Given the description of an element on the screen output the (x, y) to click on. 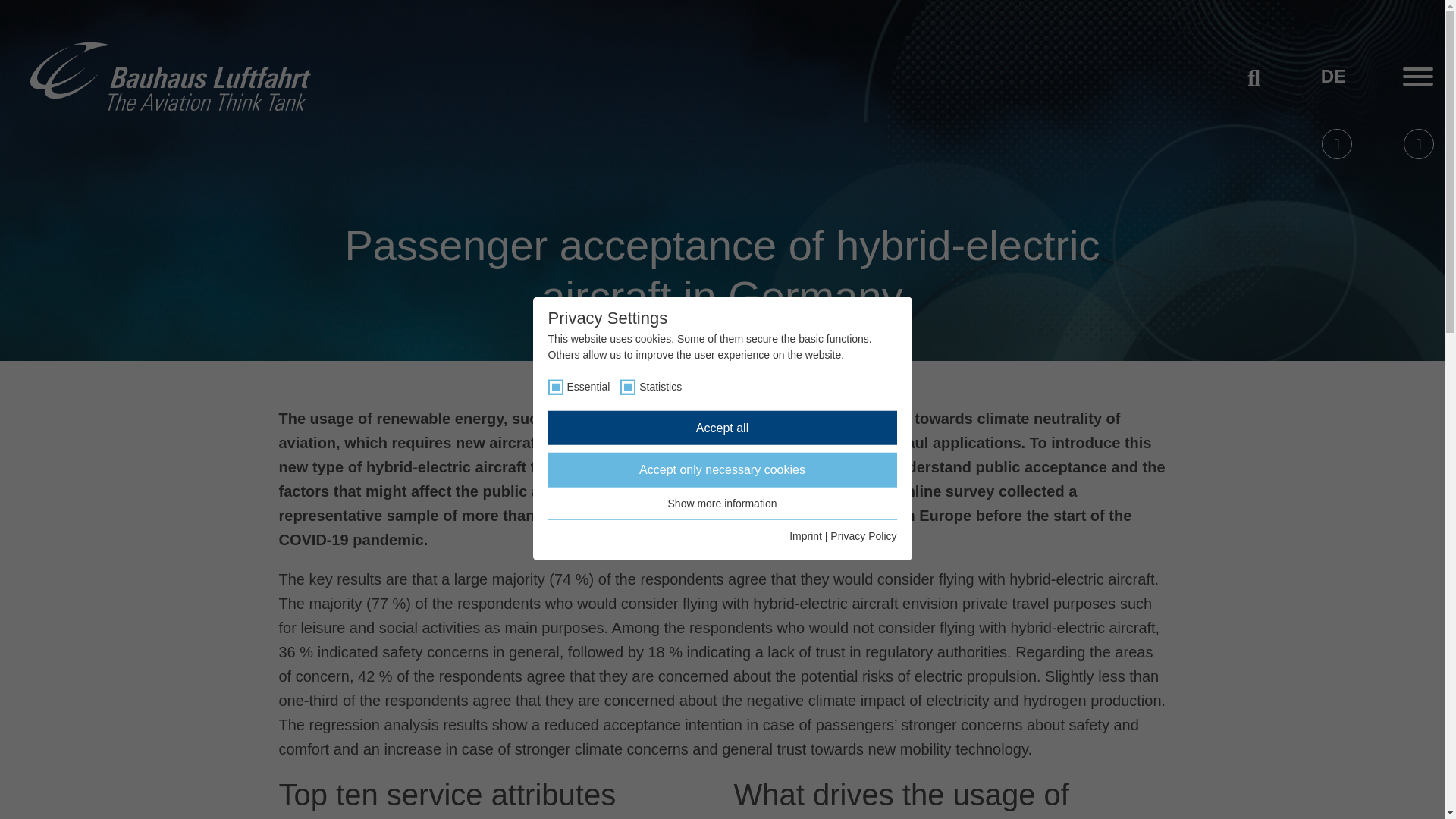
Deutsch (1332, 76)
DE (1332, 76)
